Given the description of an element on the screen output the (x, y) to click on. 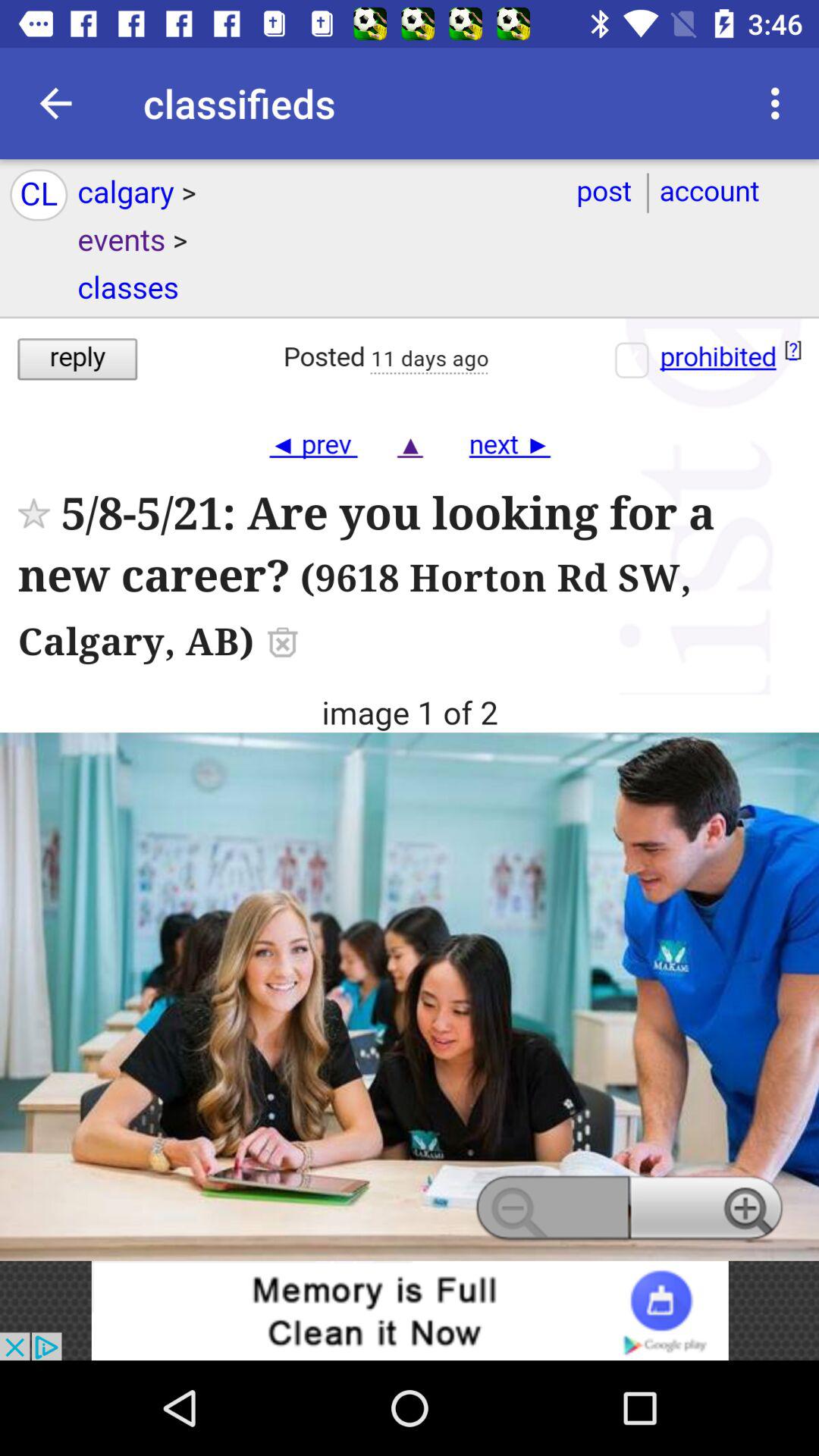
advertisement at bottom (409, 1310)
